Given the description of an element on the screen output the (x, y) to click on. 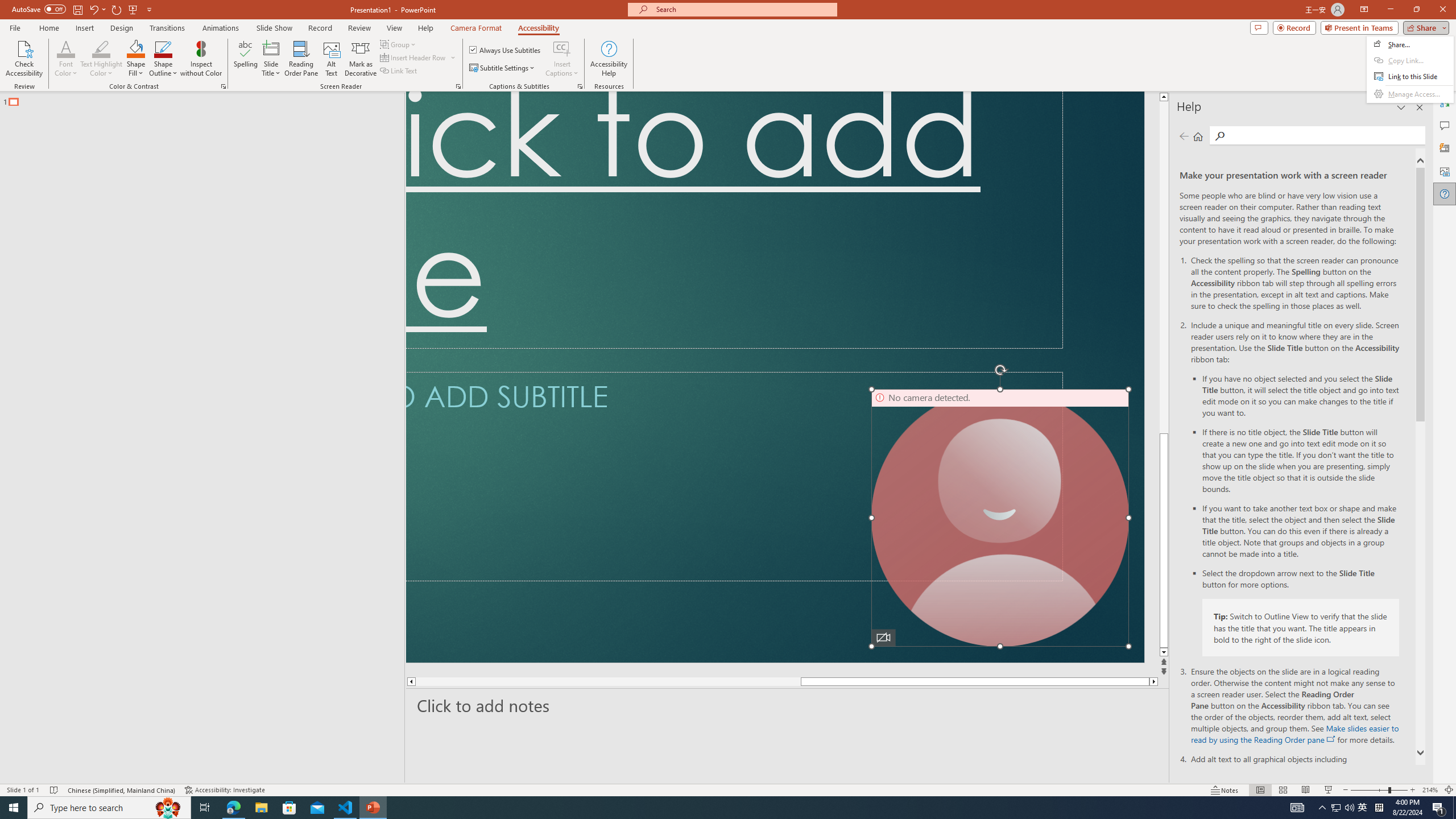
Inspect without Color (201, 58)
Zoom 214% (1430, 790)
